Given the description of an element on the screen output the (x, y) to click on. 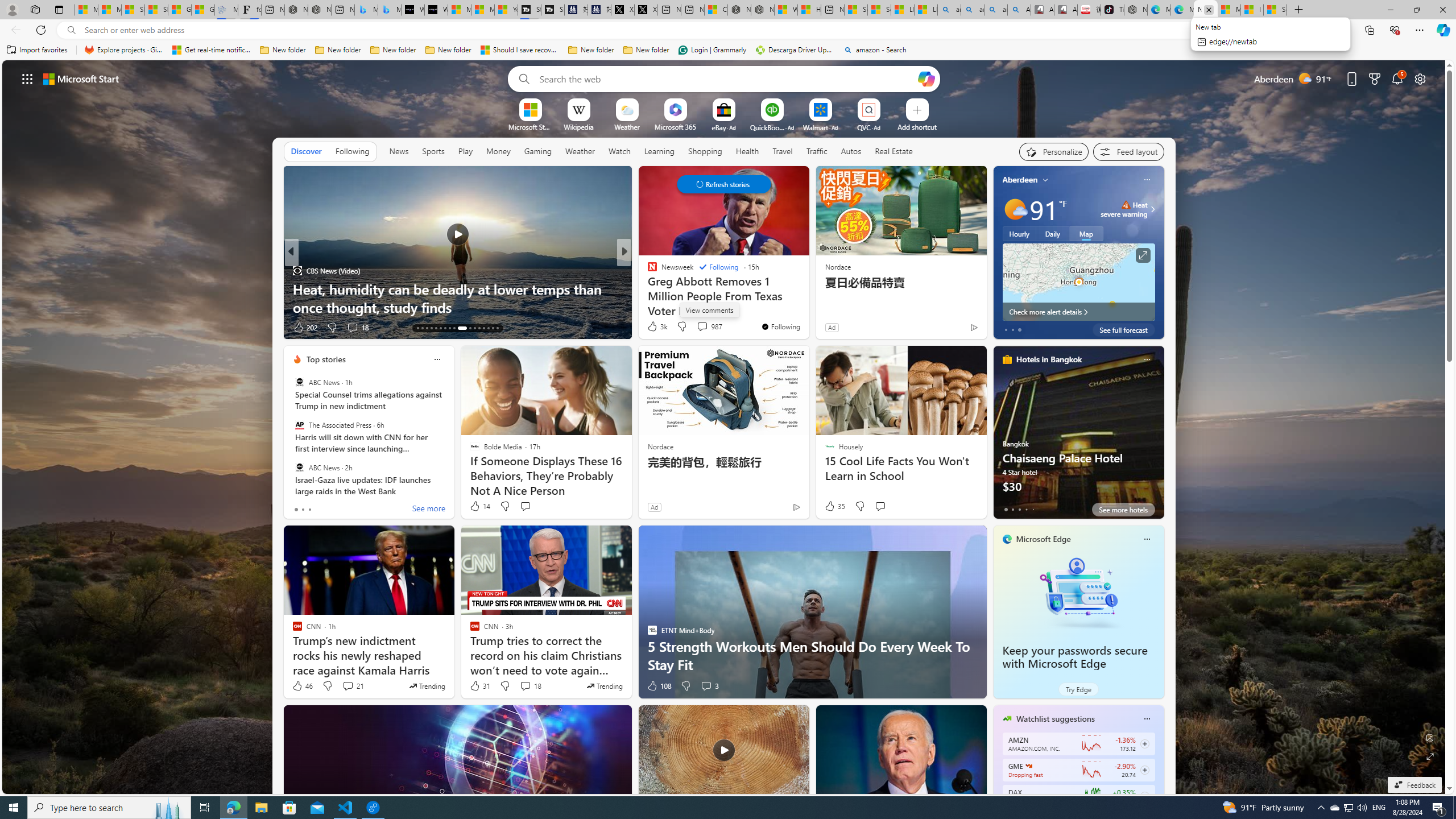
View comments 18 Comment (530, 685)
Close (1442, 9)
AutomationID: tab-29 (497, 328)
3k Like (656, 326)
Enter your search term (726, 78)
Tab actions menu (58, 9)
202 Like (304, 327)
Daily (1052, 233)
Chaisaeng Palace Hotel (1078, 436)
AutomationID: tab-15 (426, 328)
Refresh (40, 29)
Start the conversation (879, 505)
TikTok (1112, 9)
Following (352, 151)
